Given the description of an element on the screen output the (x, y) to click on. 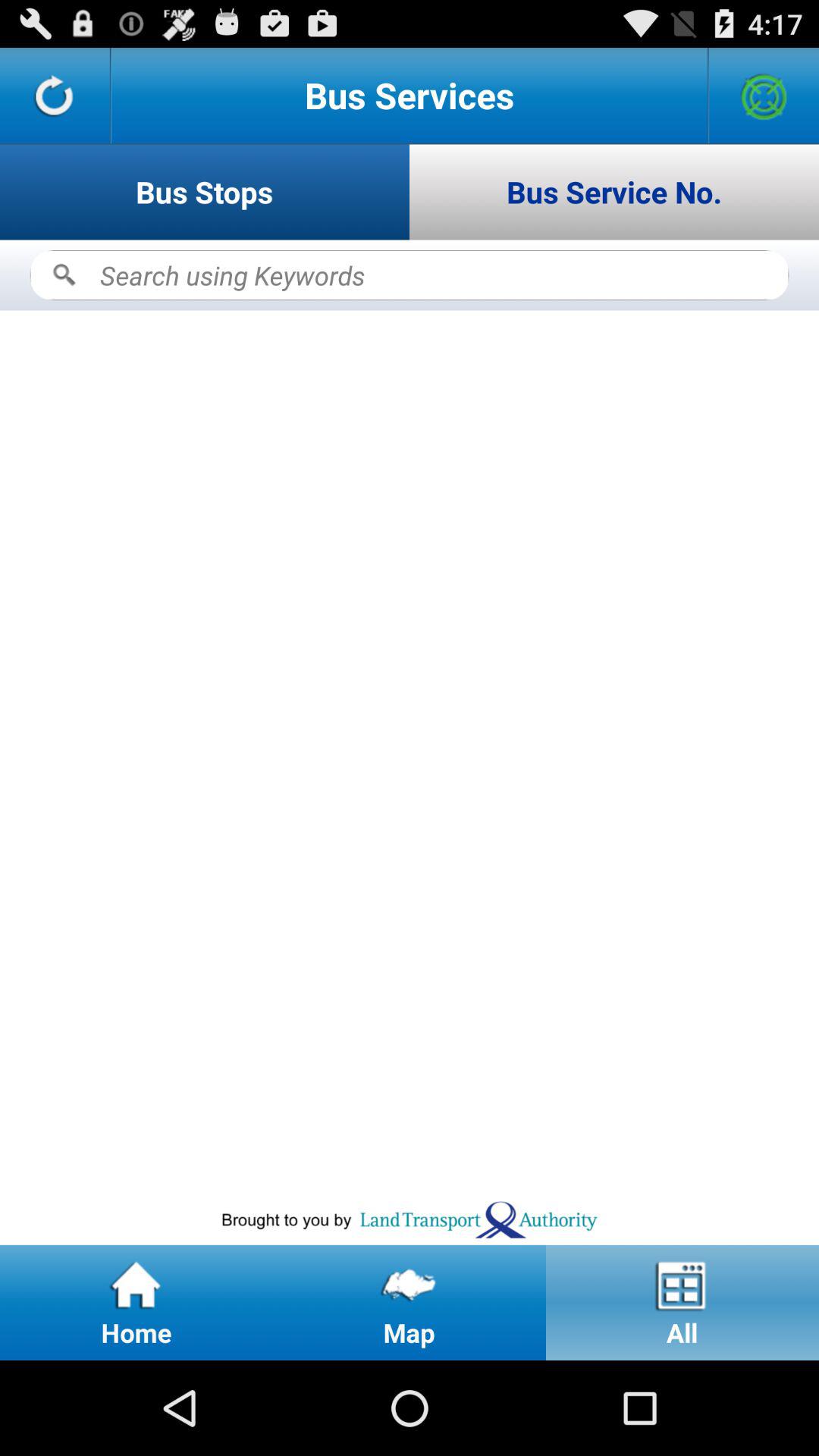
search bus stops (409, 275)
